Given the description of an element on the screen output the (x, y) to click on. 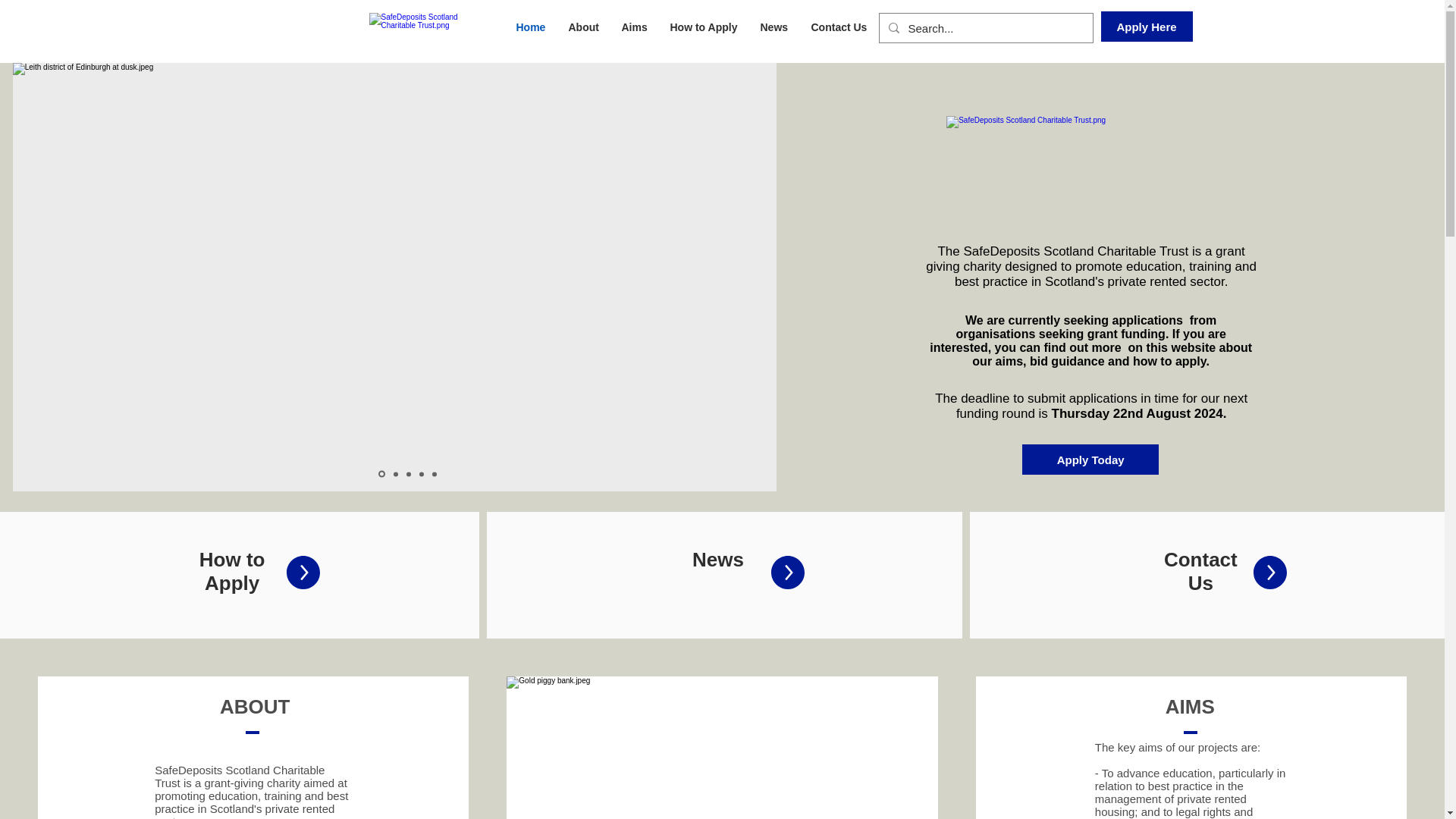
Contact Us (838, 27)
Apply (232, 582)
News (774, 27)
Home (531, 27)
Aims (634, 27)
Apply Here (1146, 26)
News (718, 558)
About (583, 27)
How to (231, 558)
How to Apply (703, 27)
Us (1200, 582)
Contact (1200, 558)
Apply Today (1090, 459)
